Given the description of an element on the screen output the (x, y) to click on. 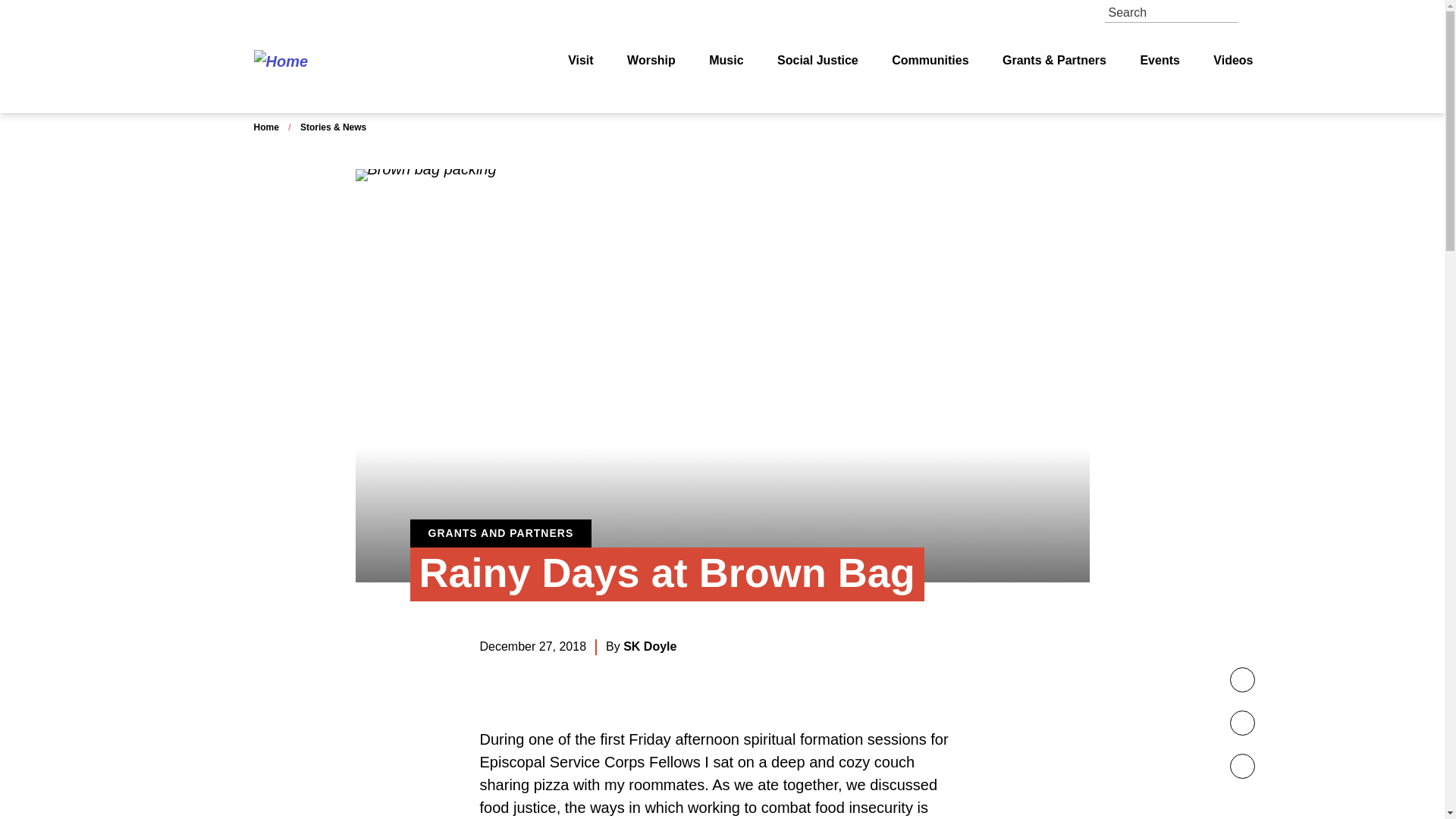
Skip to main content (721, 6)
Social Justice (818, 60)
Home (336, 60)
Communities (929, 60)
Communities (929, 60)
Visit (580, 60)
Videos (1232, 60)
Social Justice (818, 60)
Visit (580, 60)
Worship (651, 60)
Music (725, 60)
Worship (651, 60)
Home (265, 127)
Events (1159, 60)
Videos (1232, 60)
